Given the description of an element on the screen output the (x, y) to click on. 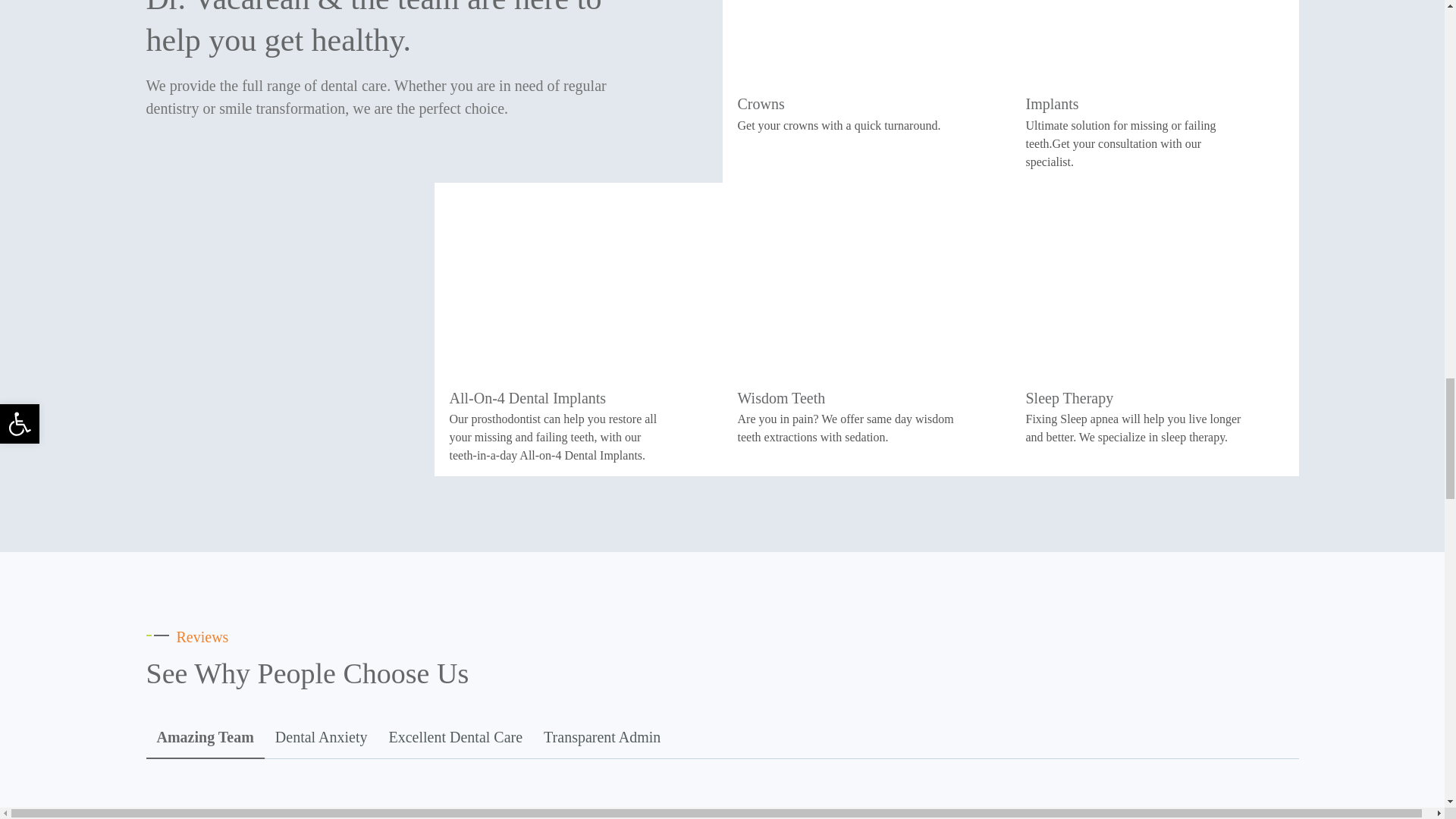
Amazing Team (204, 738)
Dental Anxiety (321, 737)
Excellent Dental Care (454, 737)
Transparent Admin (601, 737)
